Given the description of an element on the screen output the (x, y) to click on. 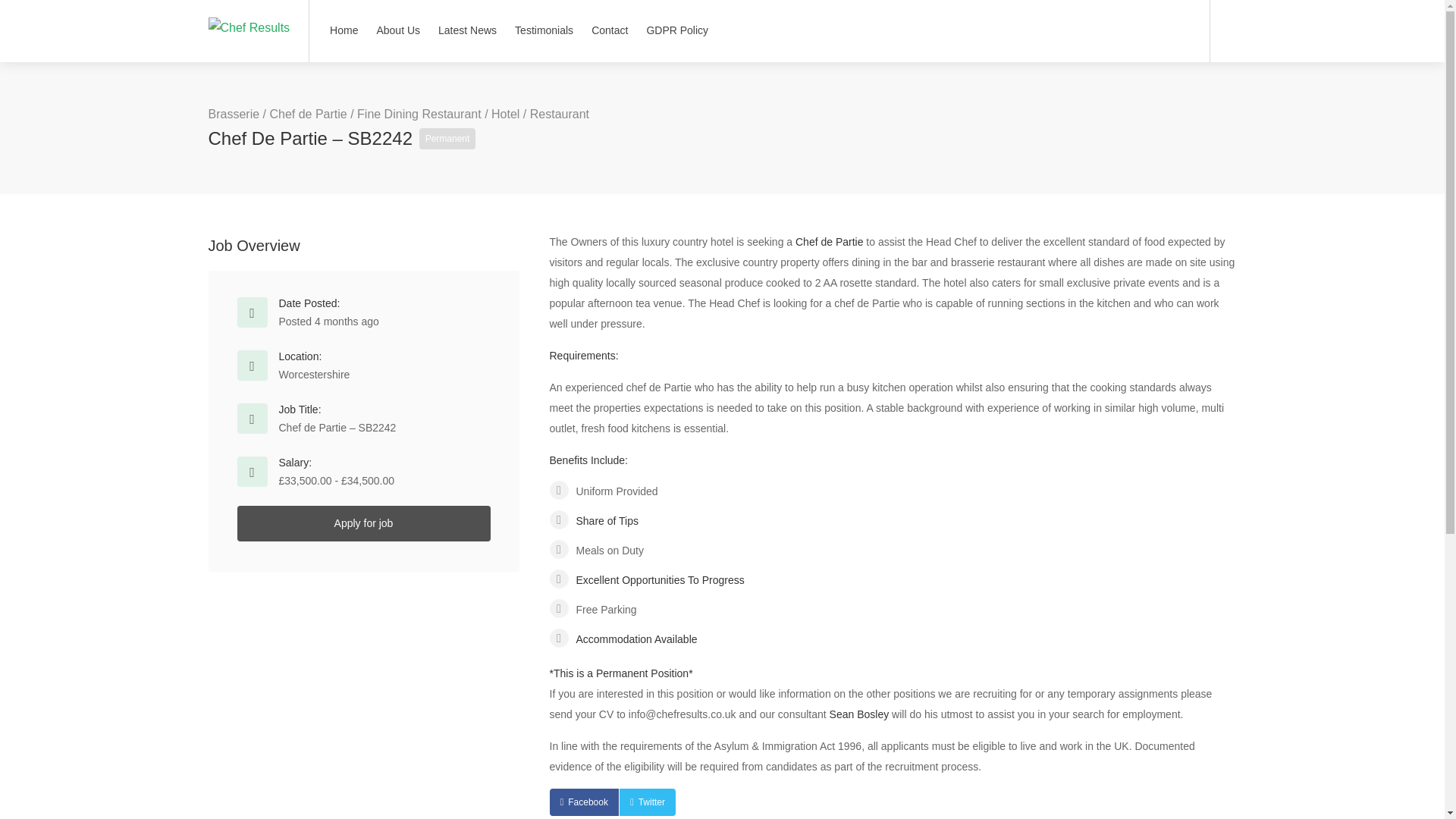
GDPR Policy (676, 30)
Fine Dining Restaurant (418, 113)
Apply for job (362, 523)
About Us (398, 30)
Twitter (647, 801)
Twitter (647, 801)
Contact (609, 30)
Chef de Partie (307, 113)
Hotel (505, 113)
Home (343, 30)
Latest News (467, 30)
Worcestershire (314, 374)
Chef Results (248, 10)
Facebook (582, 801)
Testimonials (543, 30)
